Given the description of an element on the screen output the (x, y) to click on. 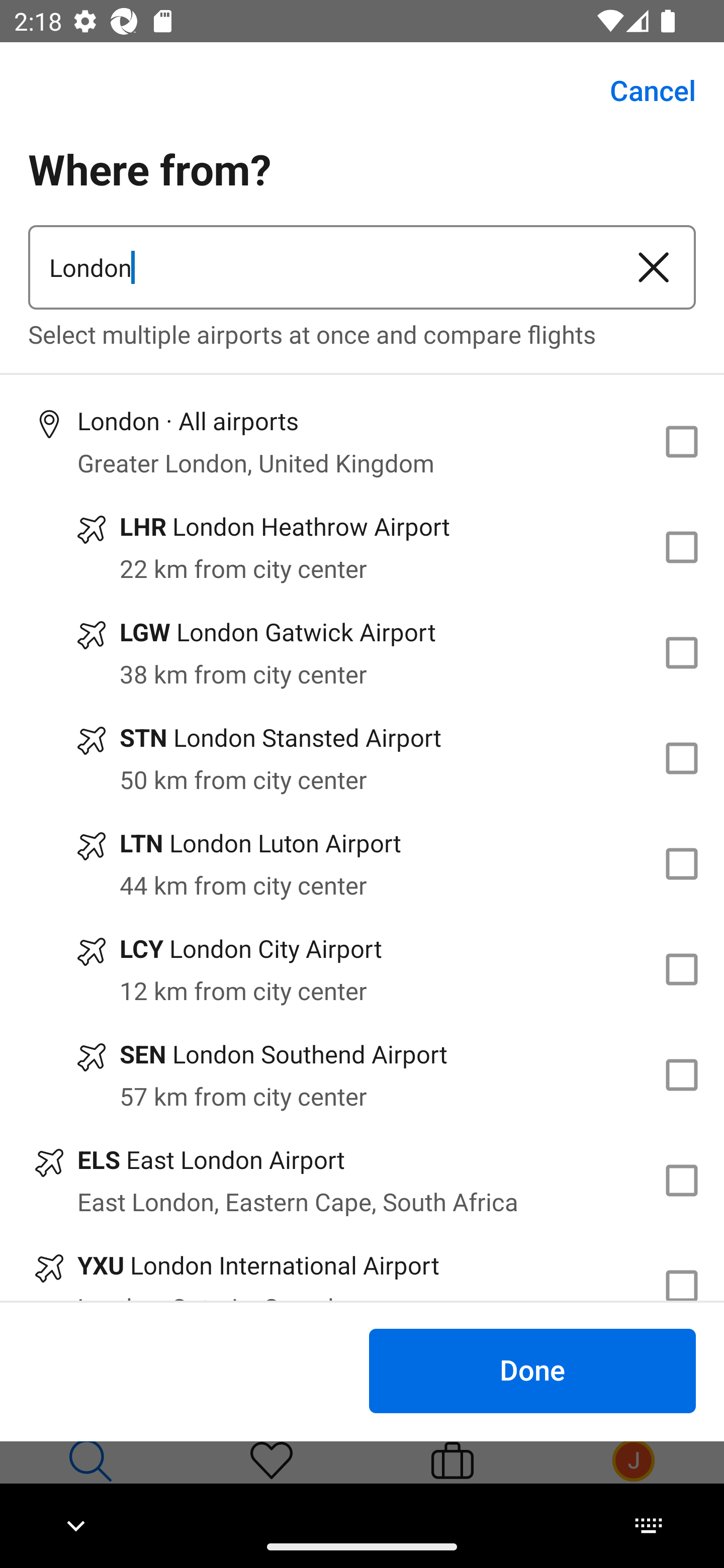
Cancel (641, 90)
London (319, 266)
Clear airport or city (653, 266)
LHR London Heathrow Airport 22 km from city center (362, 547)
LGW London Gatwick Airport 38 km from city center (362, 652)
STN London Stansted Airport 50 km from city center (362, 757)
LTN London Luton Airport 44 km from city center (362, 863)
LCY London City Airport 12 km from city center (362, 969)
SEN London Southend Airport 57 km from city center (362, 1074)
Done (532, 1370)
